Given the description of an element on the screen output the (x, y) to click on. 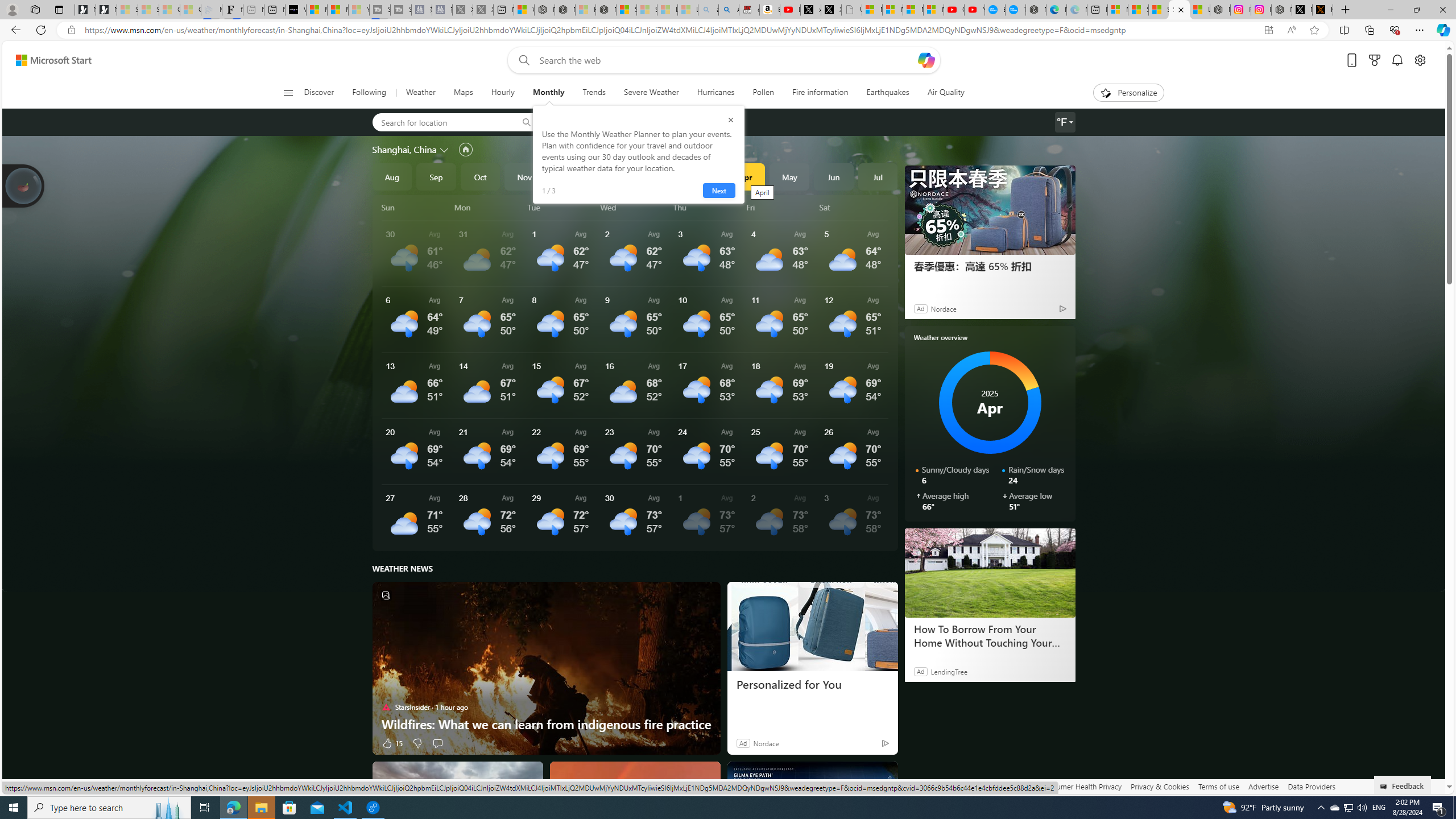
help.x.com | 524: A timeout occurred (1322, 9)
Jun (833, 176)
Severe Weather (651, 92)
Set as primary location (465, 149)
Hurricanes (715, 92)
Discover (319, 92)
Maps (462, 92)
